Given the description of an element on the screen output the (x, y) to click on. 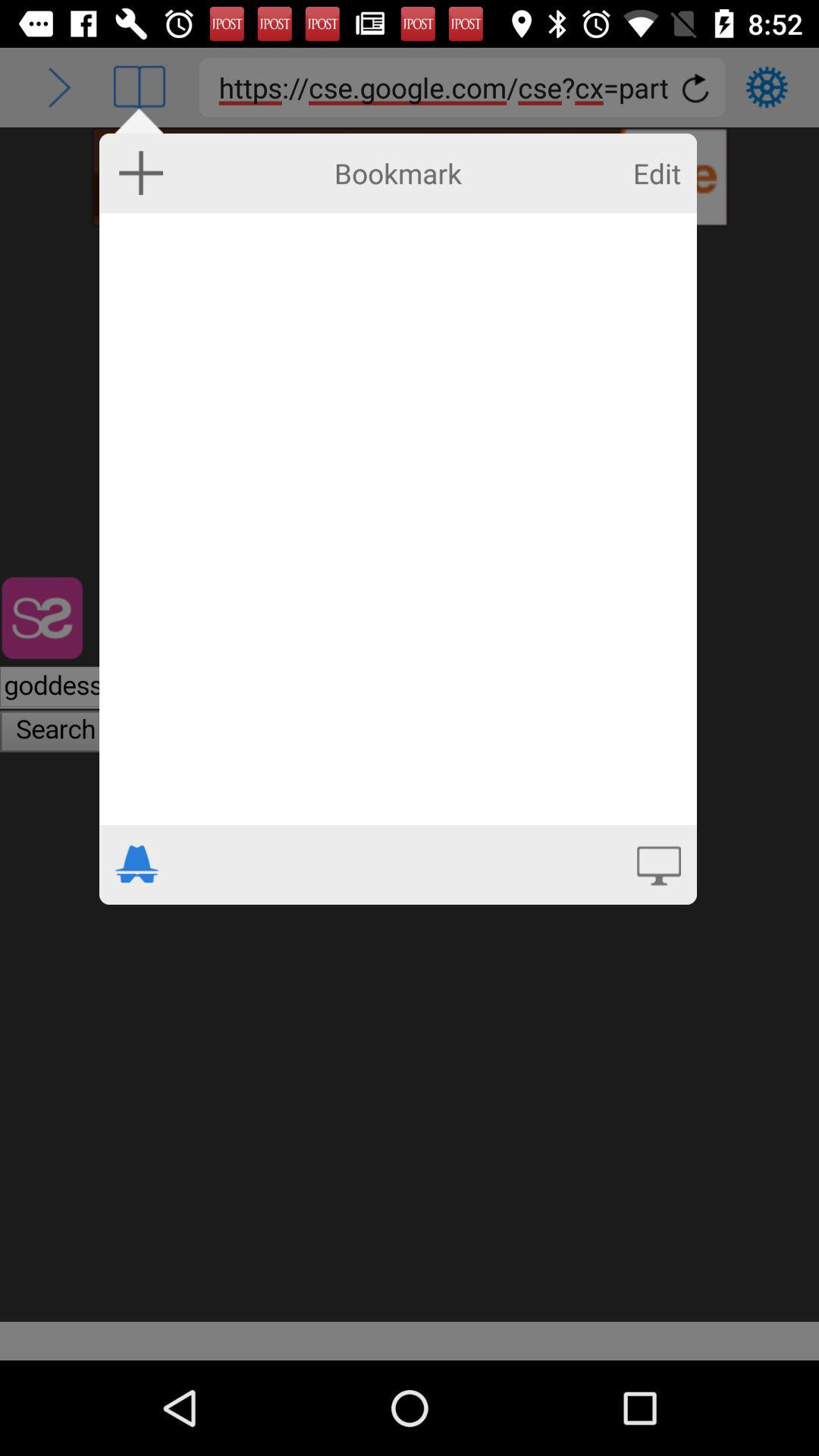
launch the edit icon (656, 172)
